Given the description of an element on the screen output the (x, y) to click on. 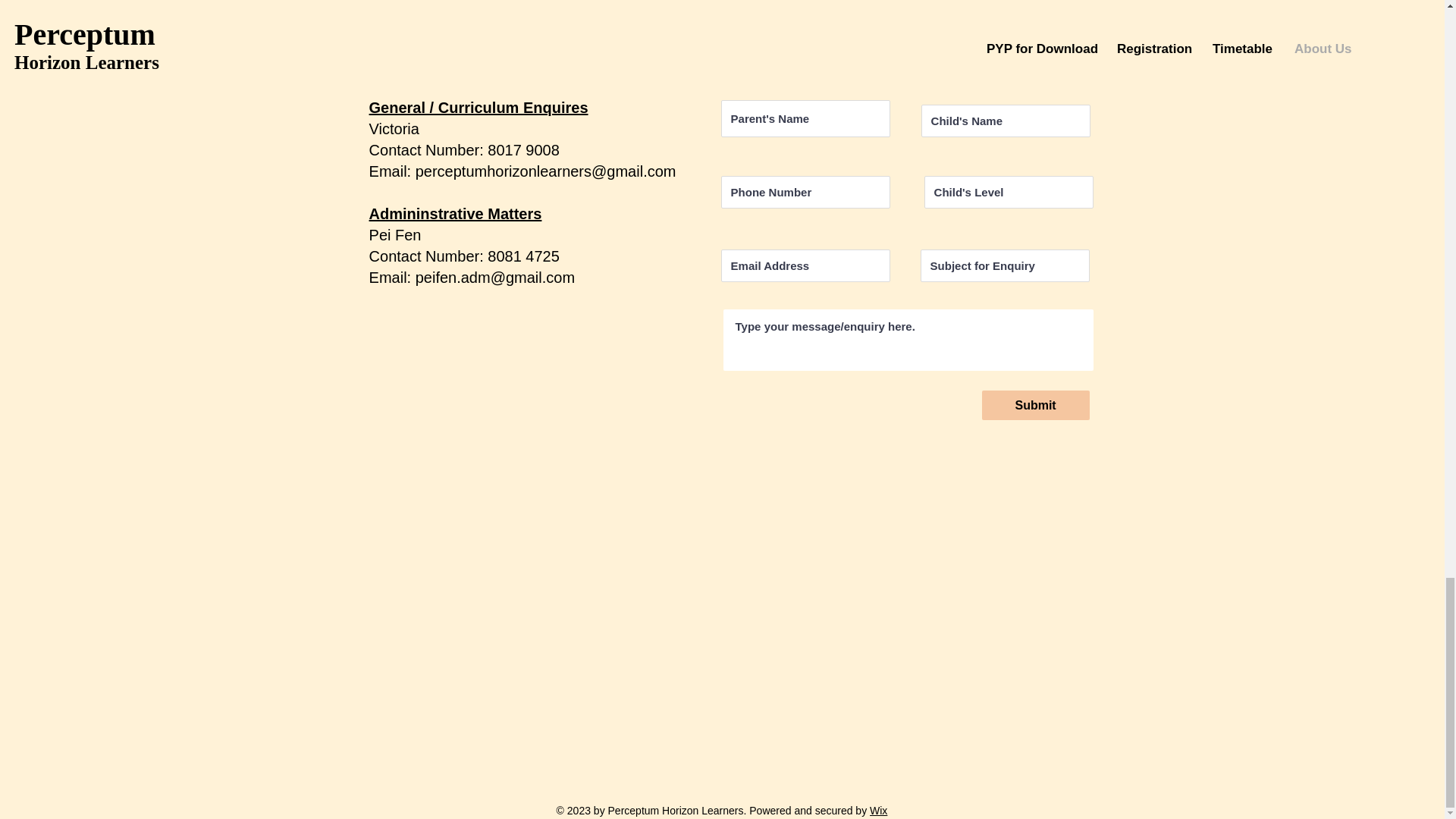
Wix (877, 810)
Submit (1035, 405)
